Given the description of an element on the screen output the (x, y) to click on. 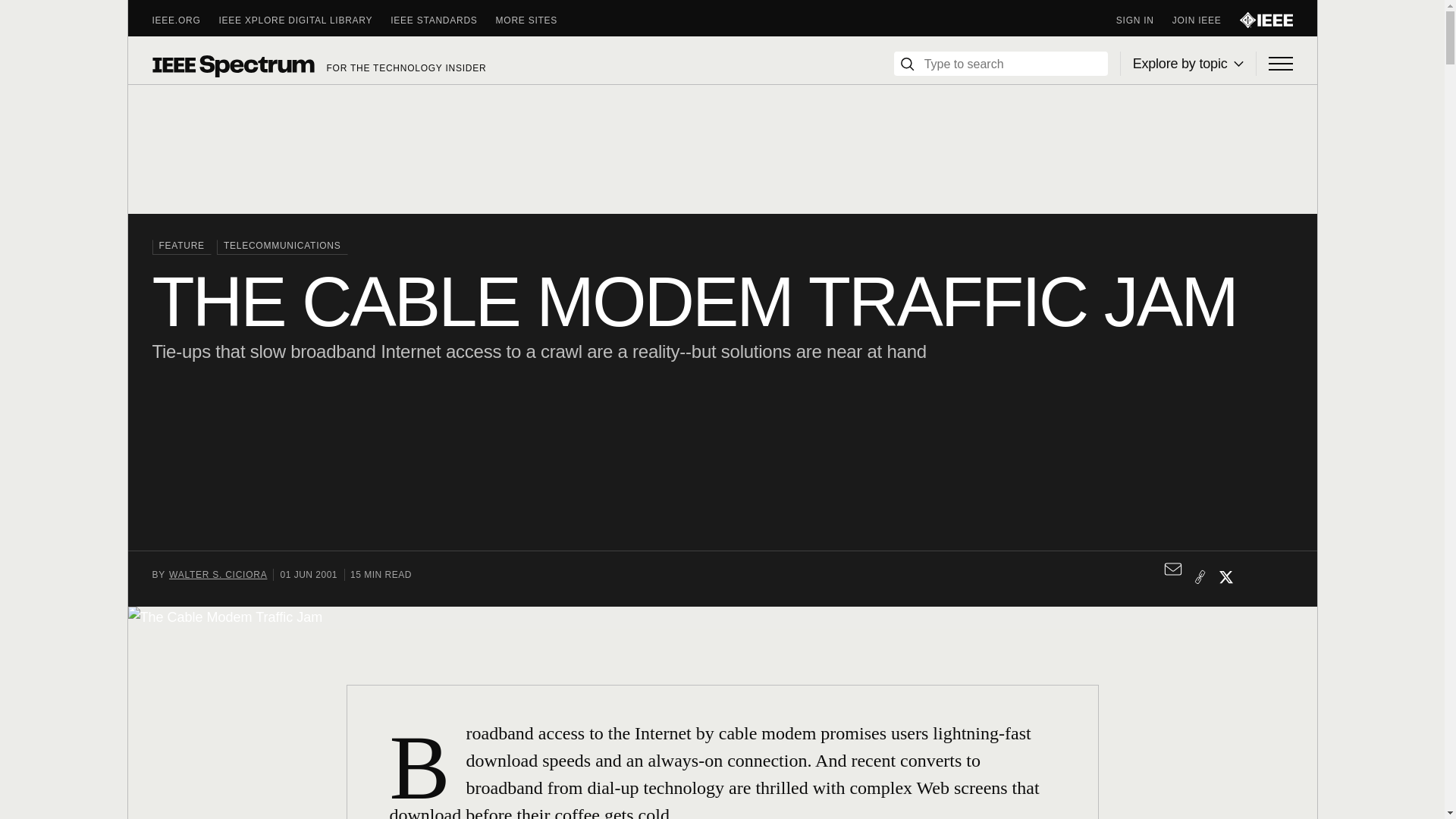
IEEE.ORG (184, 20)
Copy this link to clipboard (1199, 576)
IEEE XPLORE DIGITAL LIBRARY (305, 20)
IEEE STANDARDS (442, 20)
MORE SITES (536, 20)
JOIN IEEE (1206, 20)
Spectrum Logo (232, 64)
Search (907, 63)
SIGN IN (1144, 20)
